Given the description of an element on the screen output the (x, y) to click on. 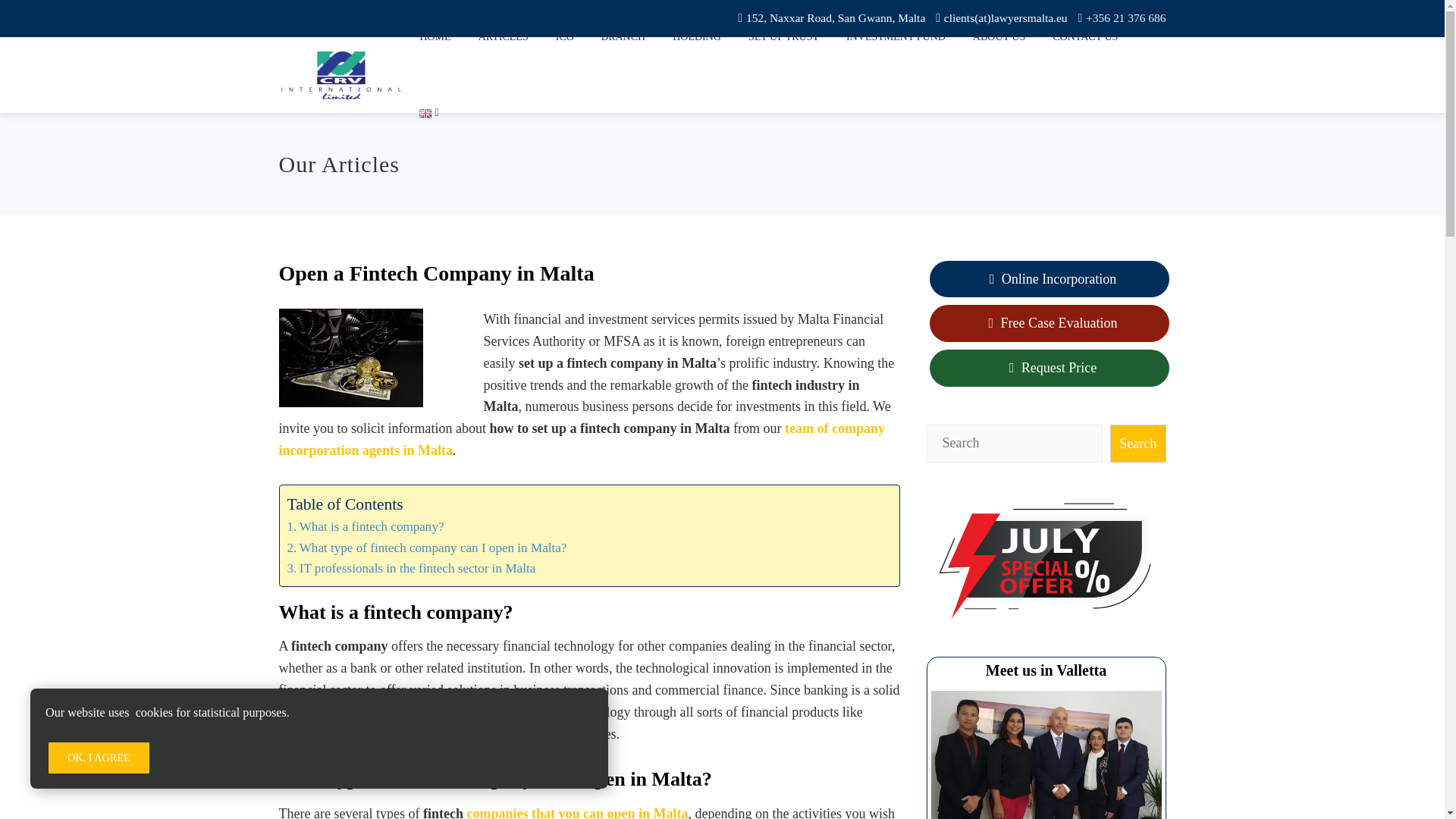
What type of fintech company can I open in Malta? (426, 547)
ABOUT US (998, 37)
What is a fintech company? (365, 526)
ARTICLES (503, 37)
SET UP TRUST (782, 37)
IT professionals in the fintech sector in Malta (410, 567)
HOLDING (696, 37)
CONTACT US (1085, 37)
INVESTMENT FUND (895, 37)
OK, I AGREE (98, 757)
